Given the description of an element on the screen output the (x, y) to click on. 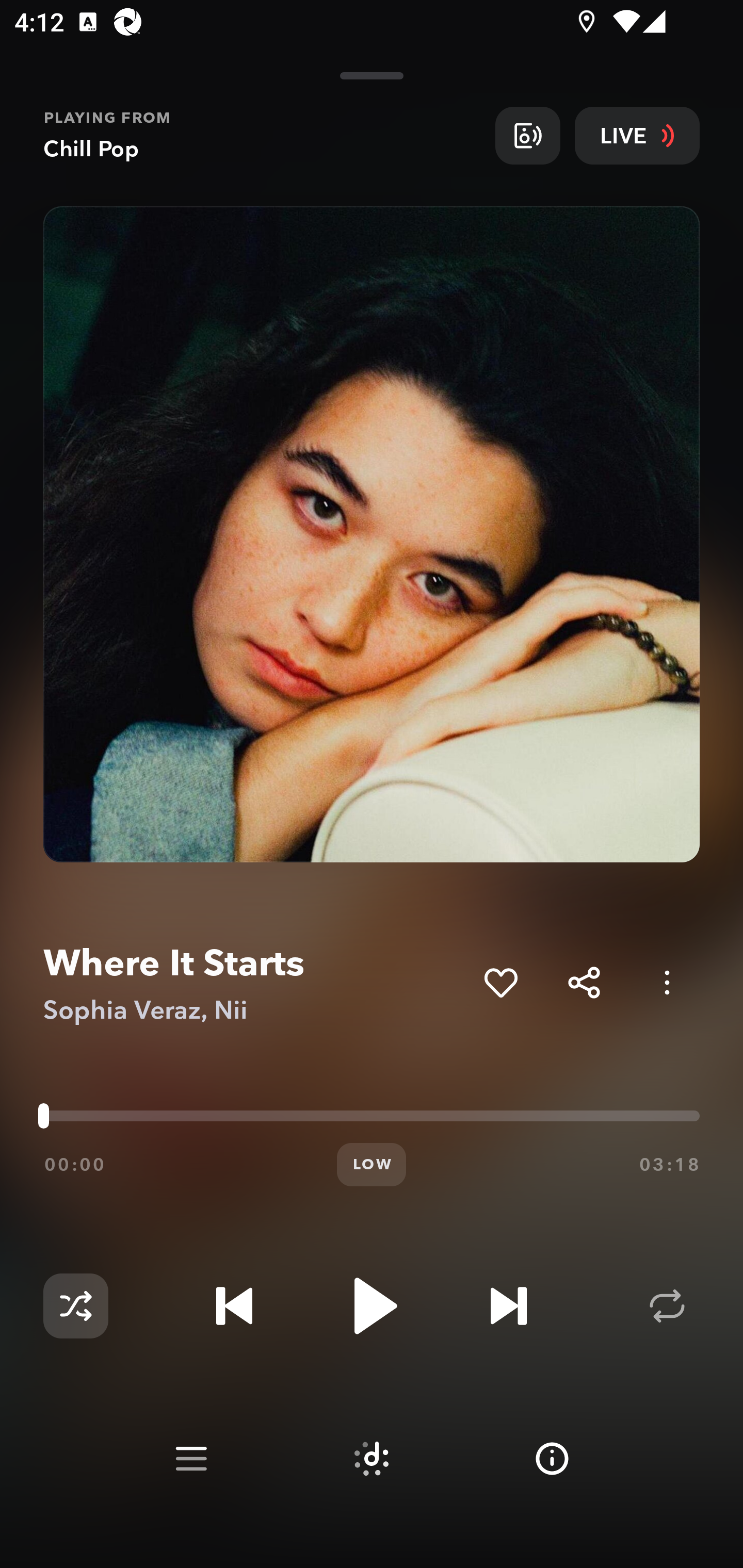
Broadcast (527, 135)
LIVE (637, 135)
PLAYING FROM Chill Pop (261, 135)
Where It Starts Sophia Veraz, Nii (255, 983)
Add to My Collection (500, 982)
Share (583, 982)
Options (666, 982)
LOW (371, 1164)
Play (371, 1306)
Previous (234, 1306)
Next (508, 1306)
Shuffle enabled (75, 1306)
Repeat Off (666, 1306)
Play queue (191, 1458)
Suggested tracks (371, 1458)
Info (551, 1458)
